Given the description of an element on the screen output the (x, y) to click on. 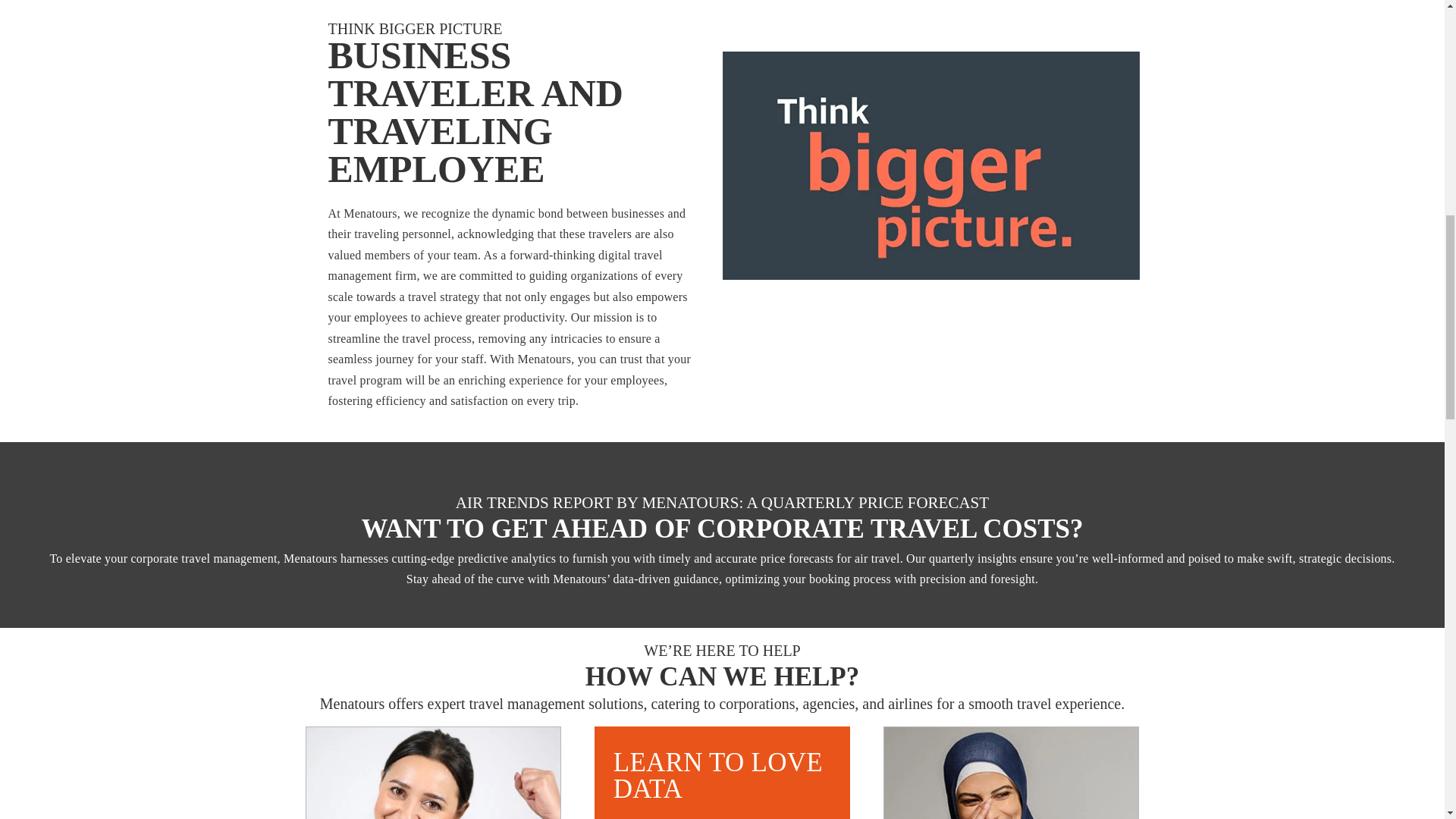
travel management highlight (930, 165)
Feature 1 (432, 773)
Feature 5 (1010, 773)
